Given the description of an element on the screen output the (x, y) to click on. 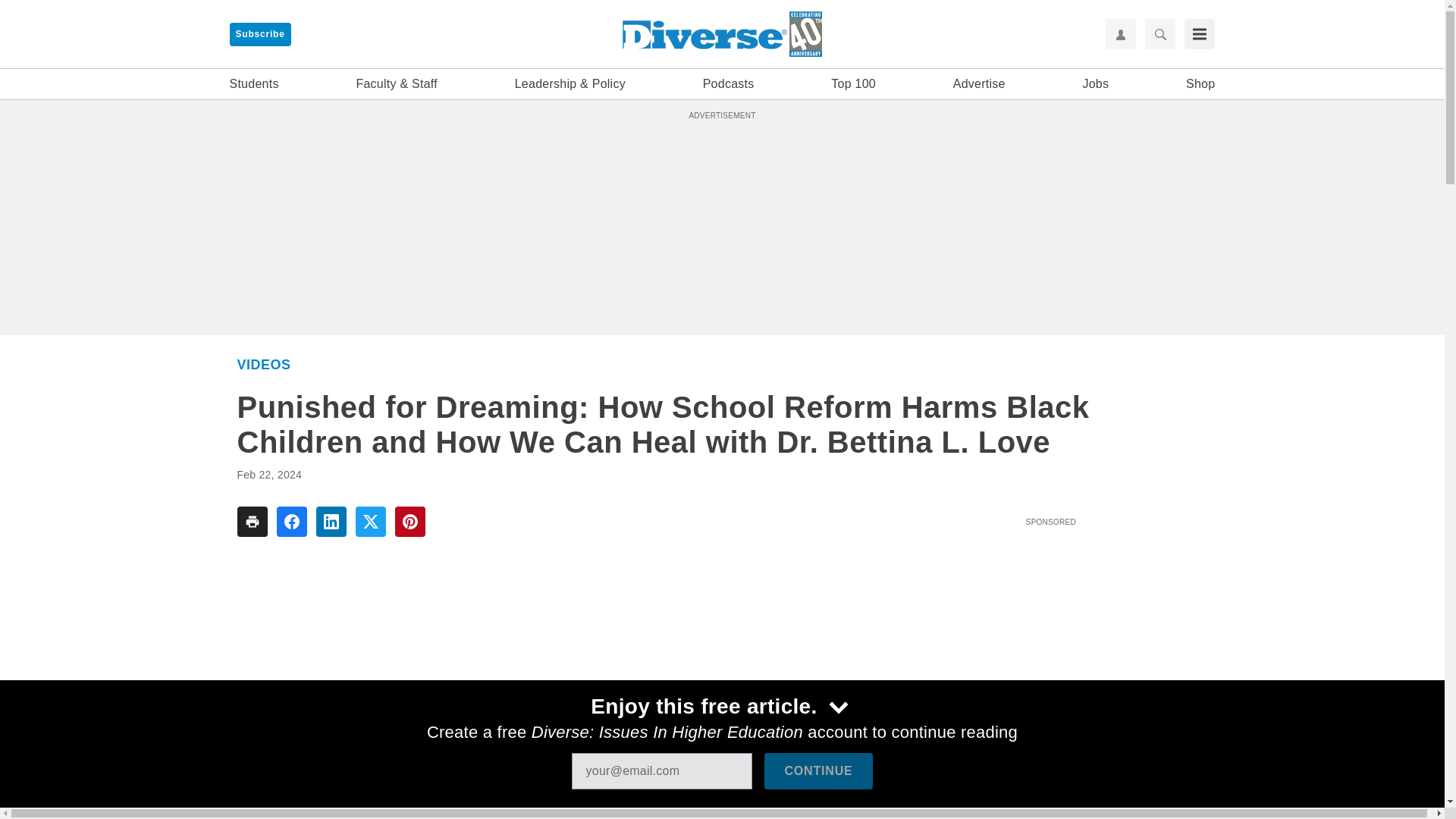
Subscribe (258, 33)
Share To twitter (370, 521)
Share To facebook (290, 521)
Advertise (979, 84)
Share To linkedin (330, 521)
Share To pinterest (409, 521)
Podcasts (728, 84)
Subscribe (258, 33)
Students (253, 84)
Videos (262, 364)
Shop (1200, 84)
Top 100 (853, 84)
Share To print (250, 521)
Jobs (1094, 84)
